Given the description of an element on the screen output the (x, y) to click on. 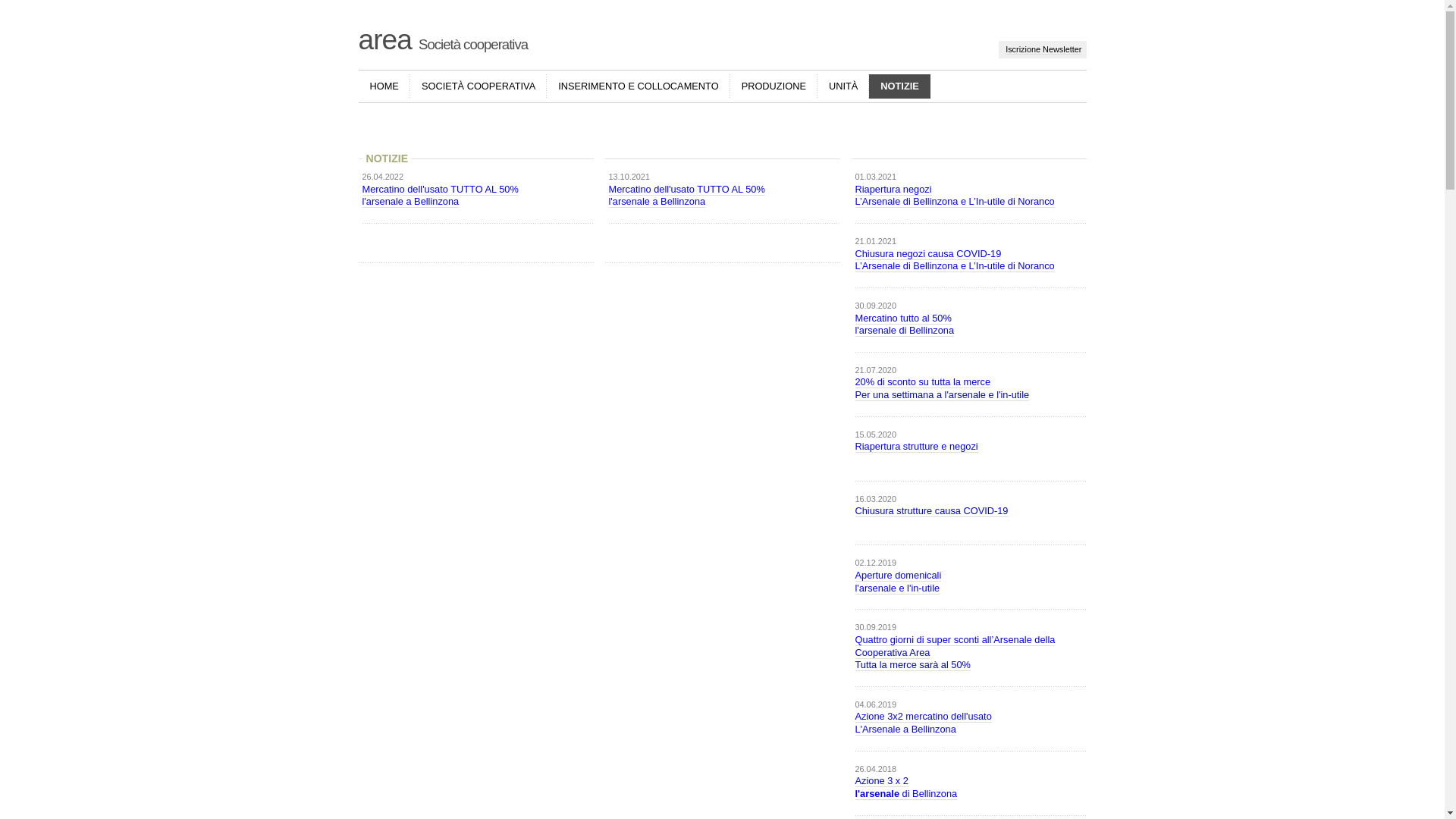
Azione 3x2 mercatino dell'usato
L'Arsenale a Bellinzona Element type: text (923, 722)
Chiusura strutture causa COVID-19 Element type: text (931, 511)
Iscrizione Newsletter Element type: text (1043, 49)
INSERIMENTO E COLLOCAMENTO Element type: text (637, 86)
Riapertura strutture e negozi Element type: text (916, 446)
Aperture domenicali
l'arsenale e l'in-utile Element type: text (898, 581)
HOME Element type: text (383, 86)
Azione 3 x 2
l'arsenale di Bellinzona Element type: text (906, 787)
PRODUZIONE Element type: text (773, 86)
Mercatino dell'usato TUTTO AL 50%
l'arsenale a Bellinzona Element type: text (686, 195)
Mercatino tutto al 50%
l'arsenale di Bellinzona Element type: text (904, 324)
Mercatino dell'usato TUTTO AL 50%
l'arsenale a Bellinzona Element type: text (440, 195)
NOTIZIE Element type: text (899, 86)
